Given the description of an element on the screen output the (x, y) to click on. 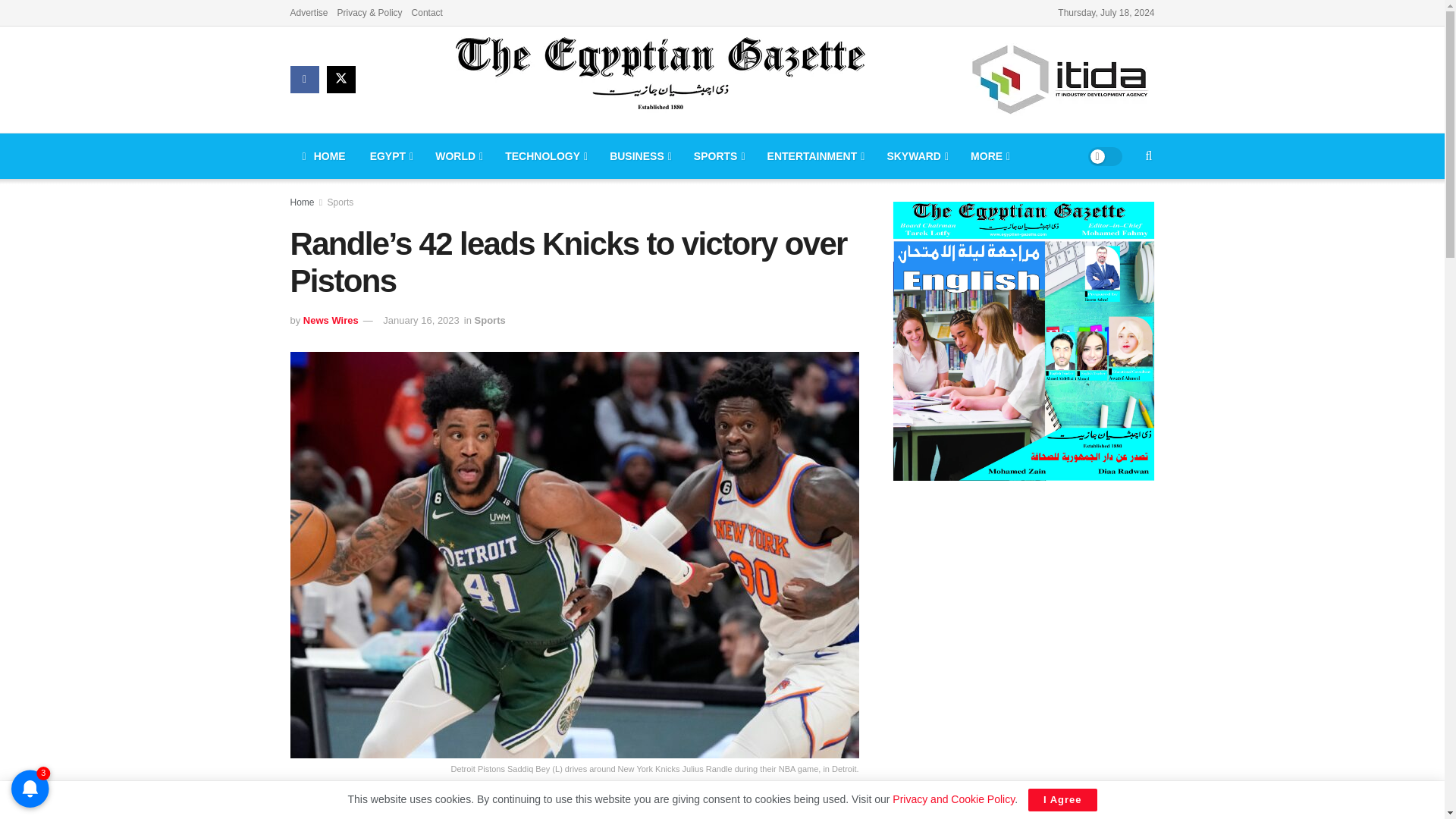
SPORTS (718, 156)
TECHNOLOGY (544, 156)
HOME (322, 156)
ENTERTAINMENT (815, 156)
BUSINESS (638, 156)
SKYWARD (916, 156)
WORLD (458, 156)
EGYPT (390, 156)
Advertise (308, 12)
MORE (989, 156)
Contact (427, 12)
